Given the description of an element on the screen output the (x, y) to click on. 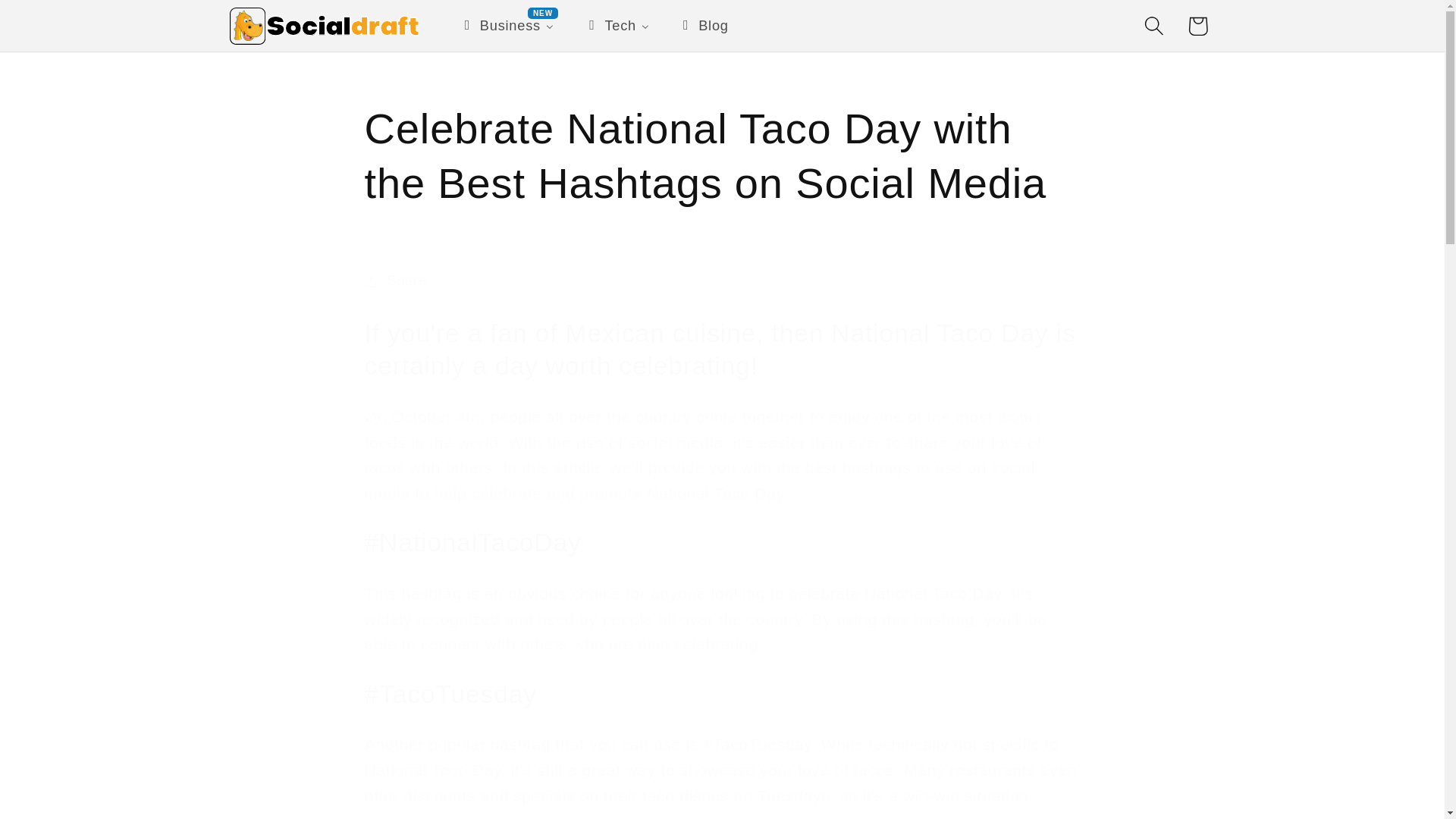
Share (722, 281)
Skip to content (59, 22)
